Given the description of an element on the screen output the (x, y) to click on. 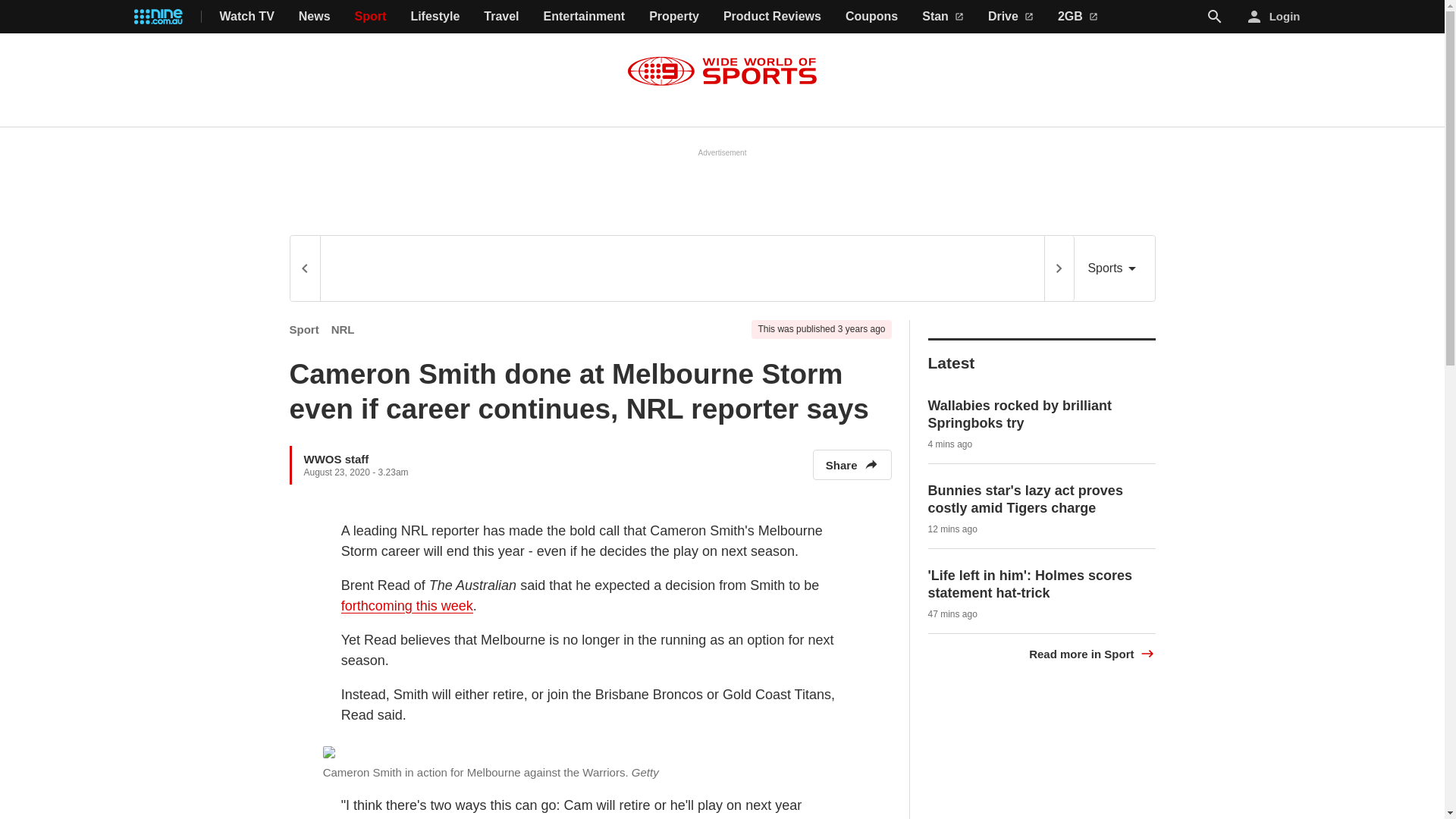
WWOS staff (335, 458)
Stan (942, 16)
Sport (371, 16)
Product Reviews (772, 16)
Search (1214, 16)
Travel (500, 16)
Search (1214, 16)
Property (673, 16)
2GB (1077, 16)
Entertainment (584, 16)
